Given the description of an element on the screen output the (x, y) to click on. 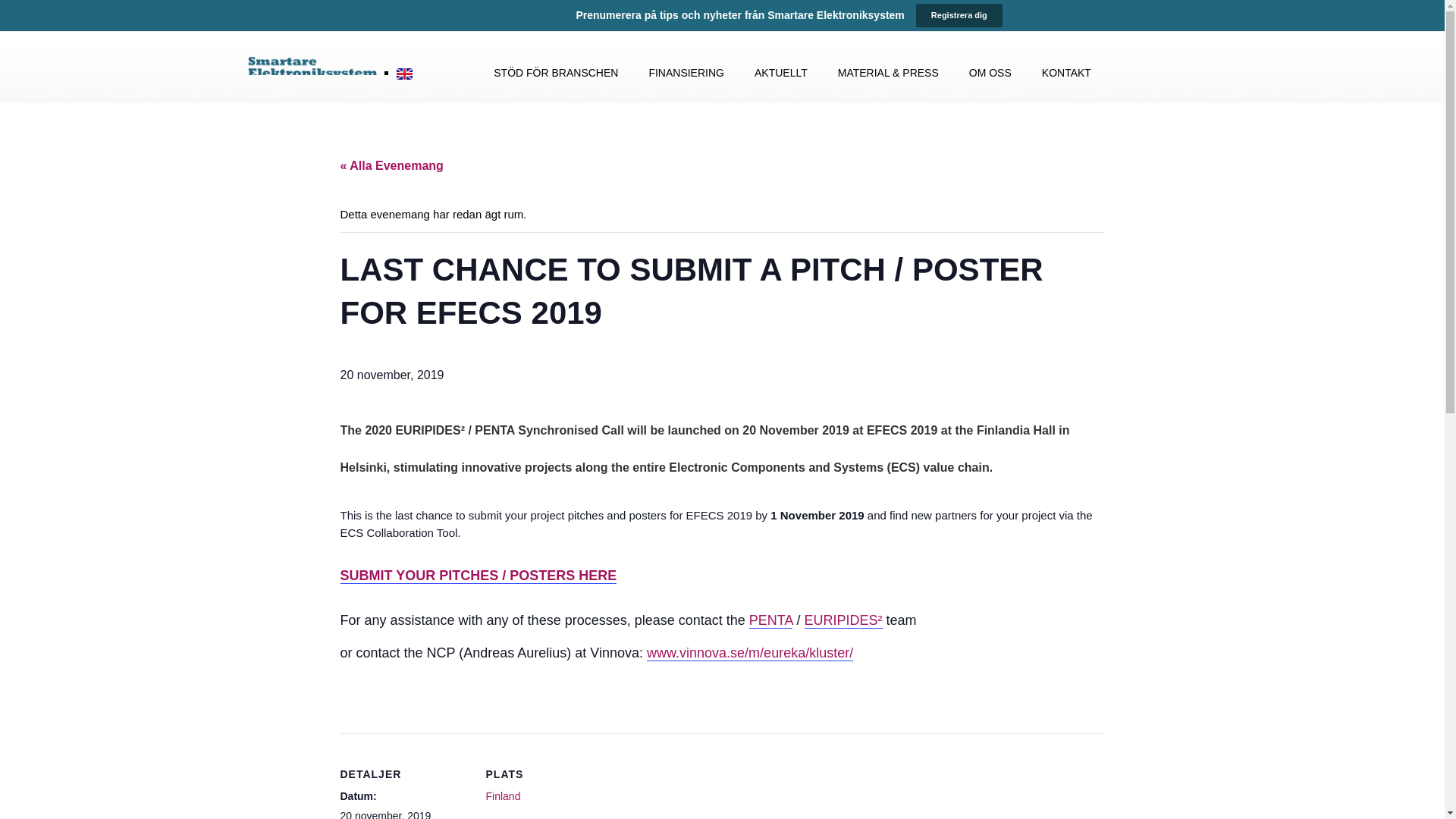
FINANSIERING (686, 72)
AKTUELLT (780, 72)
KONTAKT (1066, 72)
2019-11-20 (384, 814)
OM OSS (989, 72)
Registrera dig (959, 15)
